Given the description of an element on the screen output the (x, y) to click on. 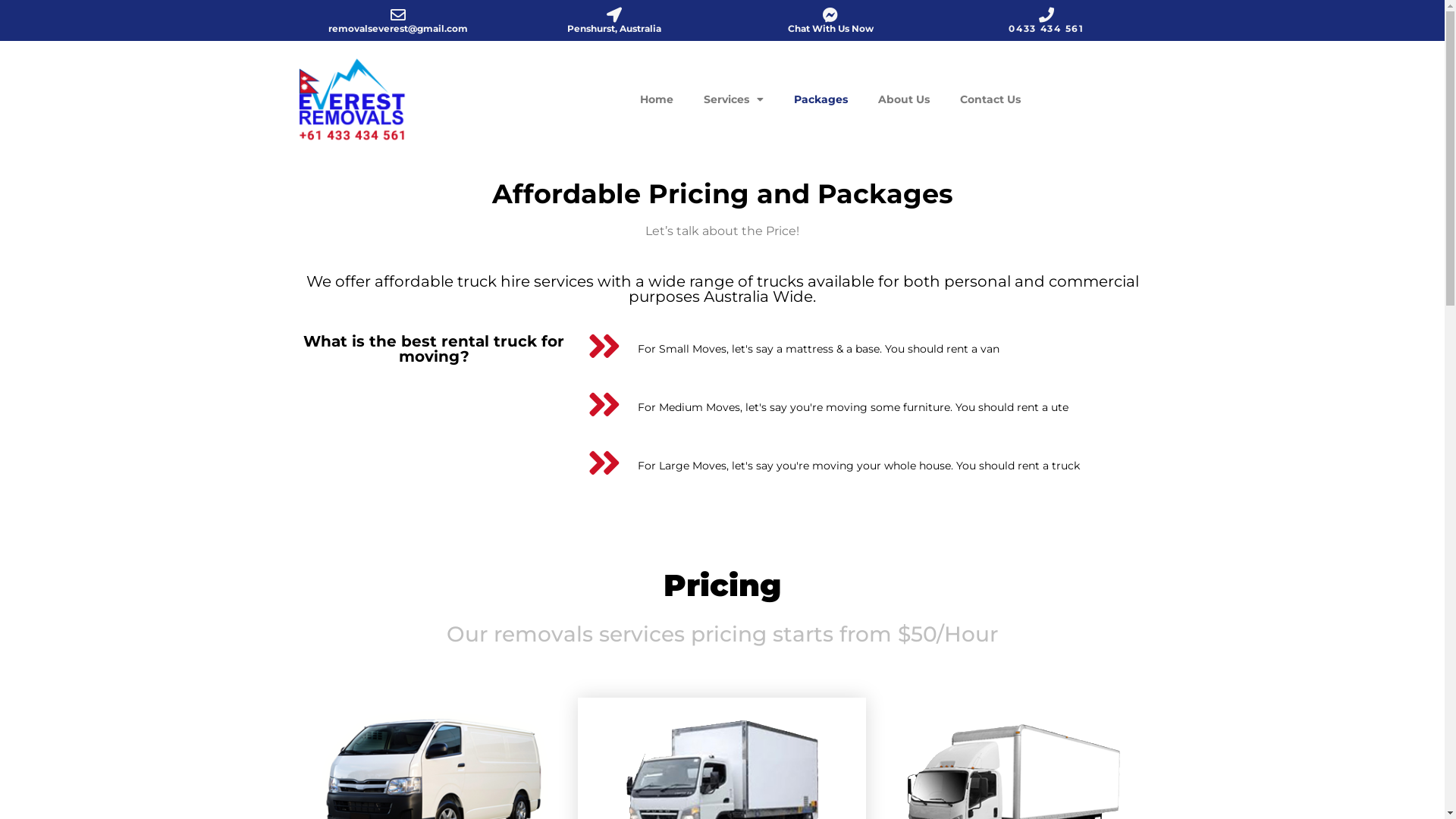
removalseverest@gmail.com Element type: text (397, 28)
Contact Us Element type: text (989, 98)
About Us Element type: text (903, 98)
Home Element type: text (656, 98)
0433 434 561 Element type: text (1045, 28)
Services Element type: text (733, 98)
Packages Element type: text (820, 98)
Chat With Us Now Element type: text (829, 28)
